Given the description of an element on the screen output the (x, y) to click on. 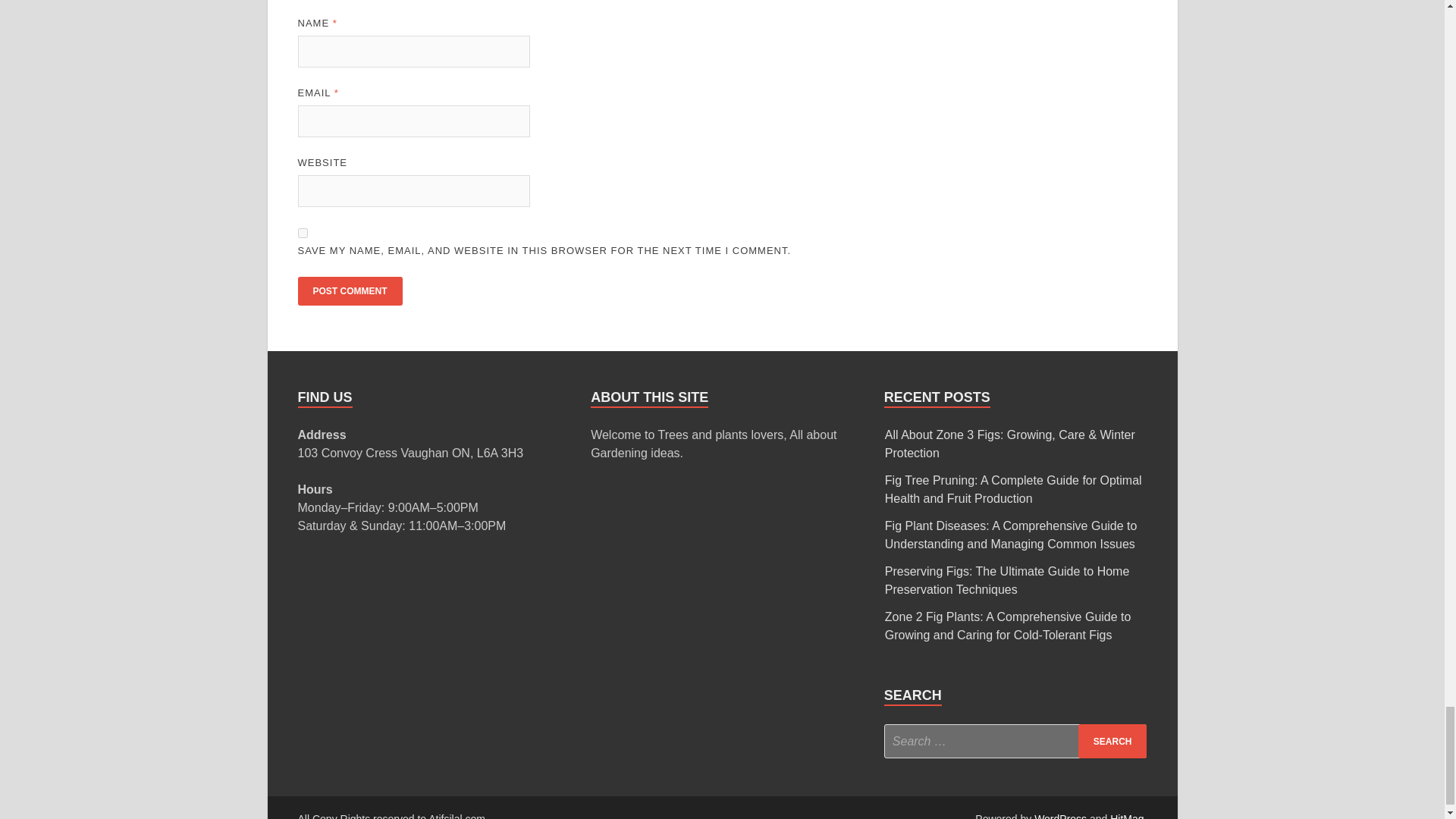
Search (1112, 740)
Search (1112, 740)
yes (302, 233)
Post Comment (349, 290)
